Given the description of an element on the screen output the (x, y) to click on. 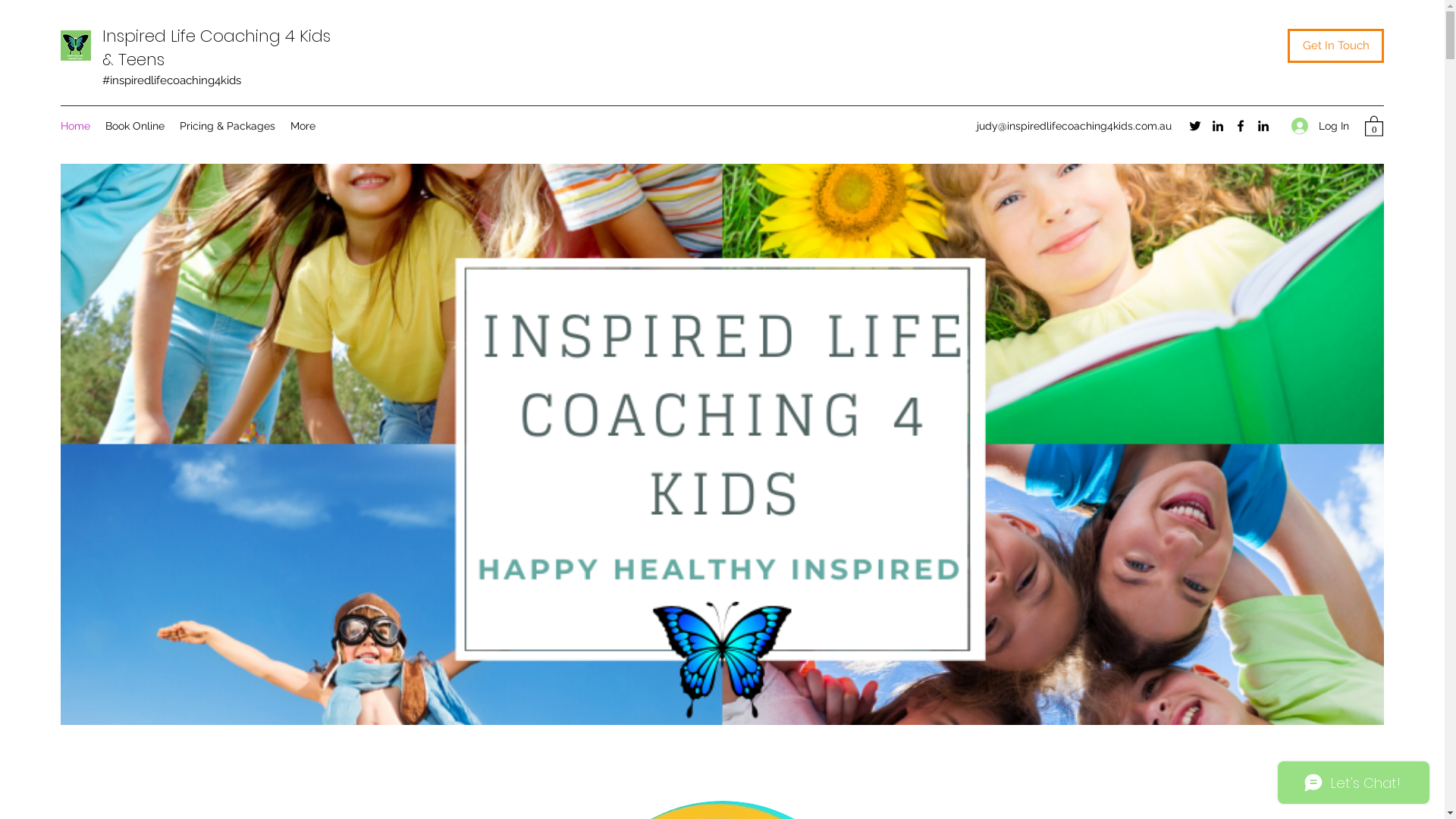
Home Element type: text (75, 125)
0 Element type: text (1374, 125)
judy@inspiredlifecoaching4kids.com.au Element type: text (1073, 125)
Inspired Life Coaching 4 Kids & Teens Element type: text (216, 47)
Log In Element type: text (1319, 126)
Pricing & Packages Element type: text (227, 125)
Book Online Element type: text (134, 125)
Get In Touch Element type: text (1335, 45)
